Given the description of an element on the screen output the (x, y) to click on. 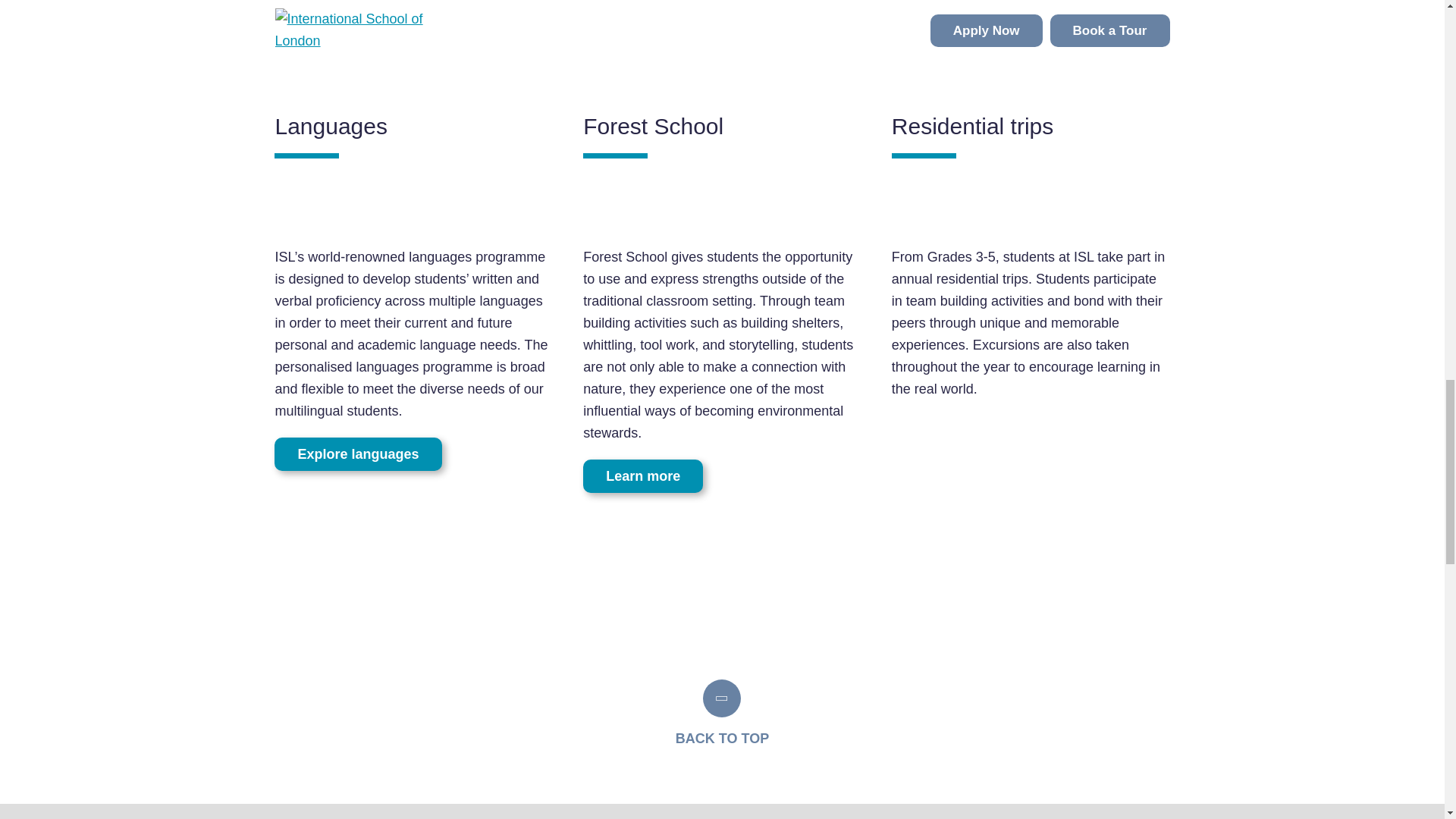
Explore Curriculum (836, 11)
